Given the description of an element on the screen output the (x, y) to click on. 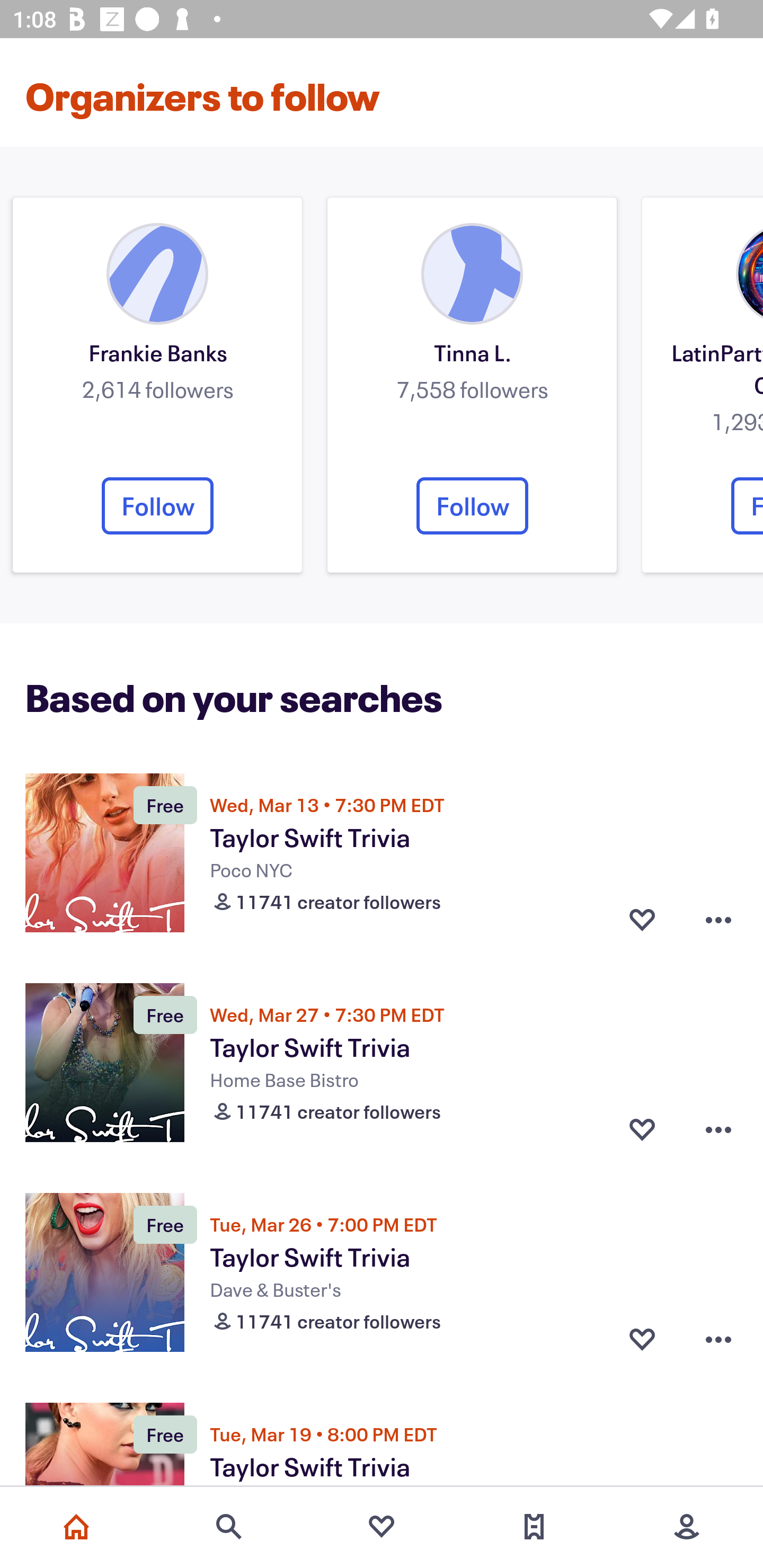
Follow Organizer's follow button (157, 505)
Follow Organizer's follow button (471, 505)
Favorite button (642, 919)
Overflow menu button (718, 919)
Favorite button (642, 1129)
Overflow menu button (718, 1129)
Favorite button (642, 1338)
Overflow menu button (718, 1338)
Home (76, 1526)
Search events (228, 1526)
Favorites (381, 1526)
Tickets (533, 1526)
More (686, 1526)
